Given the description of an element on the screen output the (x, y) to click on. 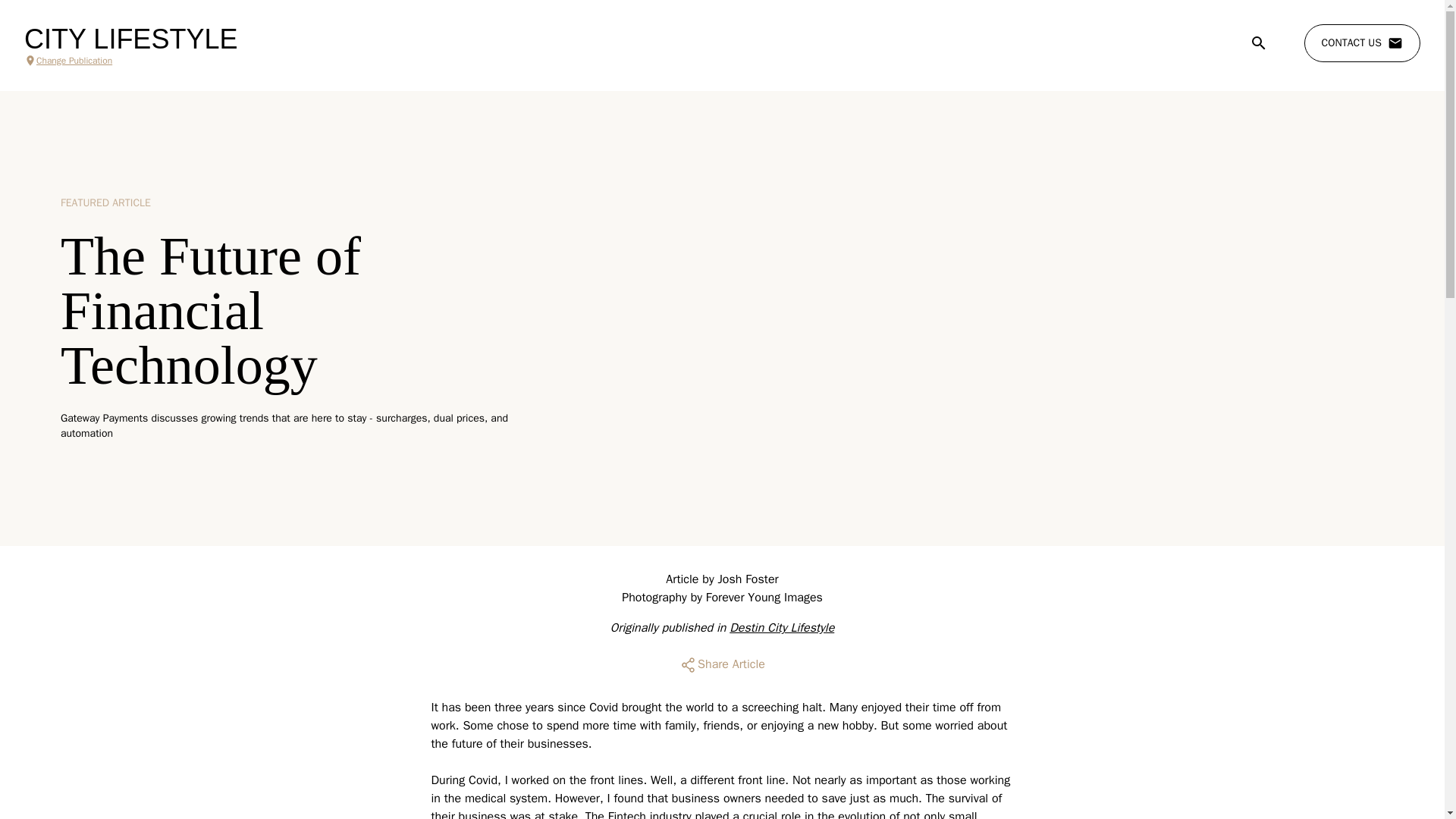
CITY LIFESTYLE (130, 39)
Share Article (722, 664)
Change Publication (130, 60)
CONTACT US (1362, 43)
Destin City Lifestyle (781, 627)
